Given the description of an element on the screen output the (x, y) to click on. 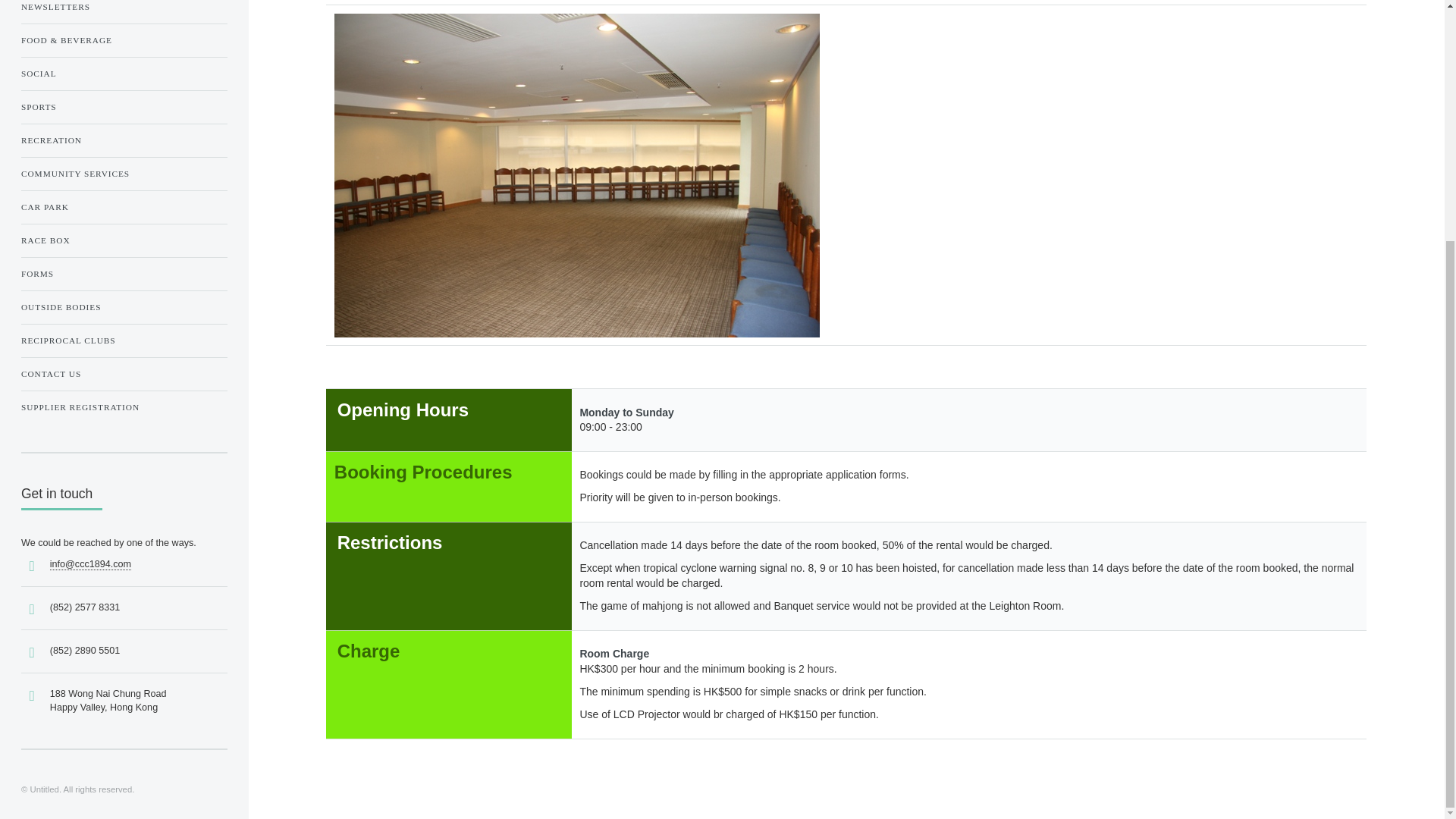
SOCIAL (124, 73)
SPORTS (124, 106)
NEWSLETTERS (124, 9)
CAR PARK (124, 206)
CONTACT US (124, 373)
RECIPROCAL CLUBS (124, 340)
SUPPLIER REGISTRATION (124, 406)
RACE BOX (124, 240)
RECREATION (124, 139)
OUTSIDE BODIES (124, 306)
COMMUNITY SERVICES (124, 173)
FORMS (124, 273)
